Given the description of an element on the screen output the (x, y) to click on. 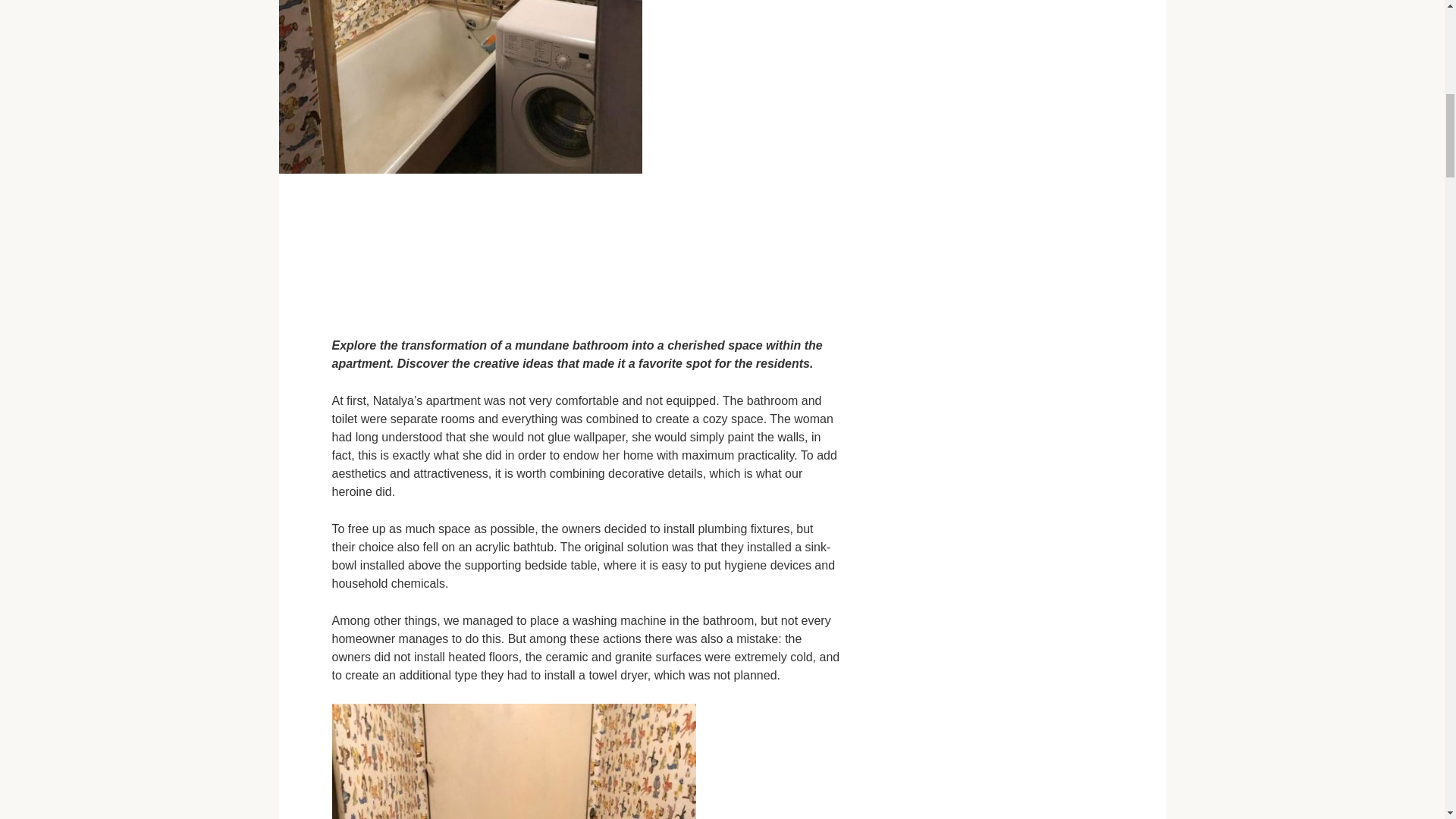
Advertisement (585, 253)
